Given the description of an element on the screen output the (x, y) to click on. 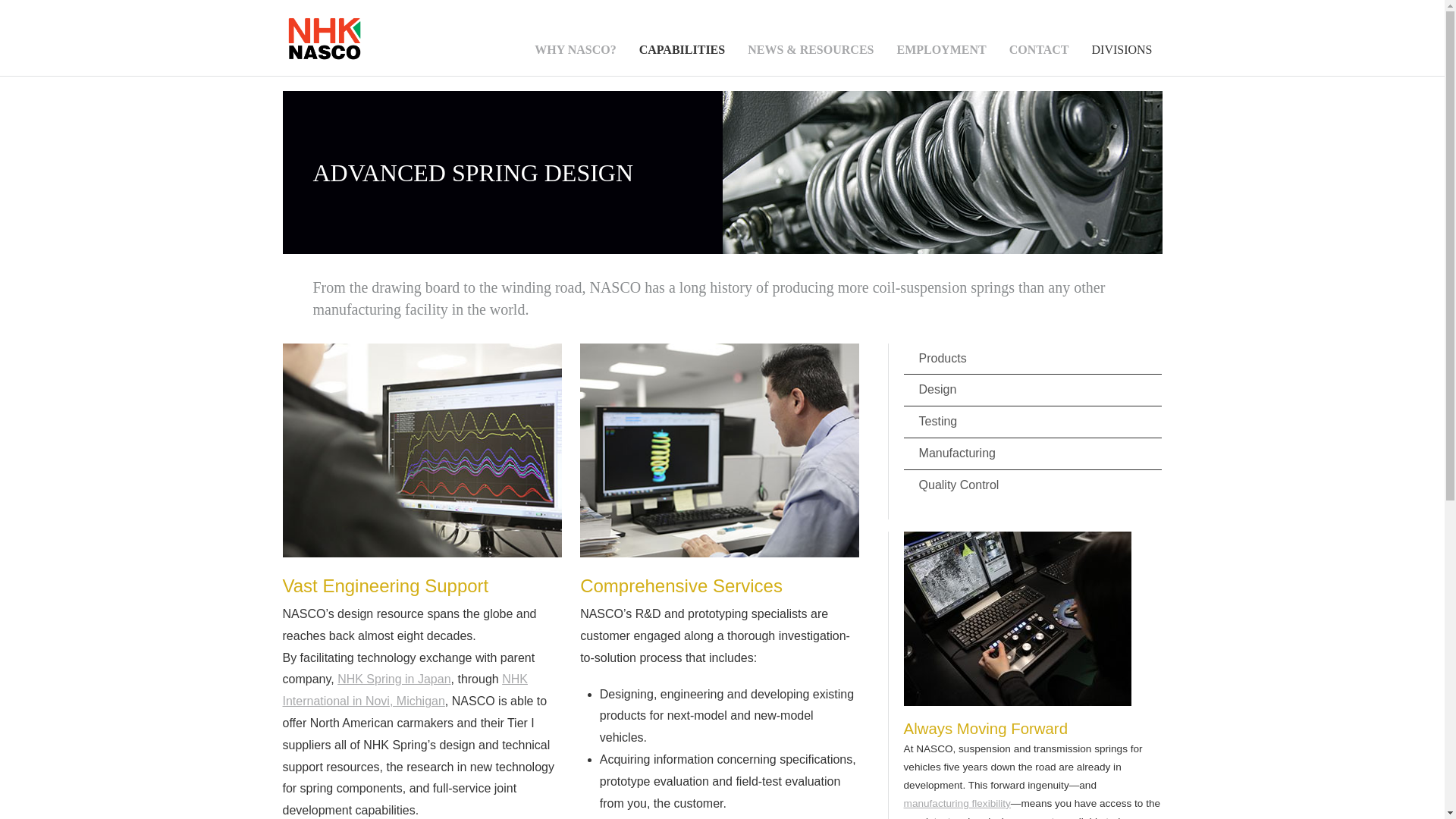
NHK Spring in Japan (393, 678)
WHY NASCO? (575, 56)
Design (1032, 389)
Manufacturing (1032, 453)
EMPLOYMENT (940, 56)
manufacturing flexibility (957, 803)
DIVISIONS (1122, 56)
NHK NASCO (325, 56)
Testing (1032, 421)
NHK NASCO (325, 37)
